Given the description of an element on the screen output the (x, y) to click on. 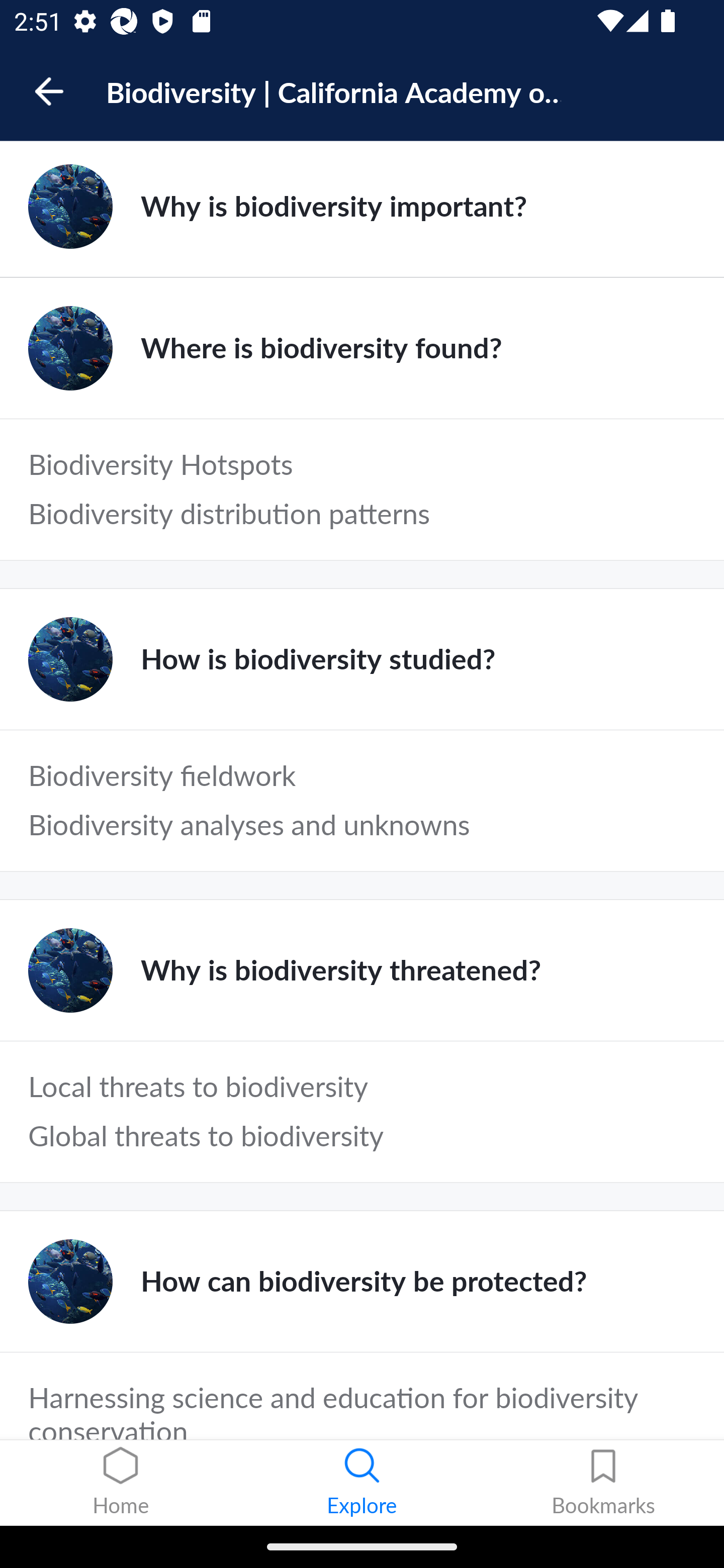
Back (58, 91)
Where is biodiversity found? (362, 347)
How is biodiversity studied? (362, 659)
Why is biodiversity threatened? (362, 970)
How can biodiversity be protected? (362, 1280)
Home (120, 1482)
Explore (361, 1482)
Bookmarks (603, 1482)
